Given the description of an element on the screen output the (x, y) to click on. 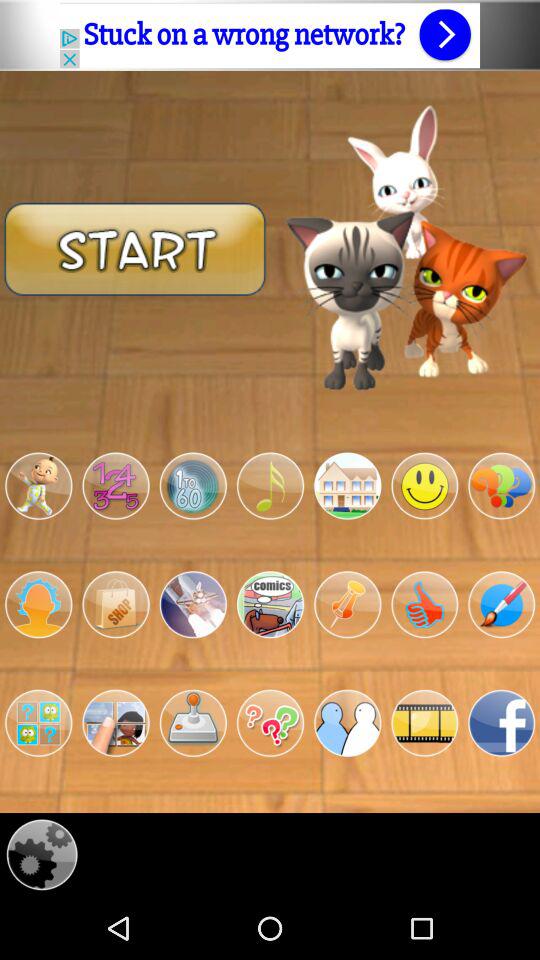
click app (424, 604)
